Given the description of an element on the screen output the (x, y) to click on. 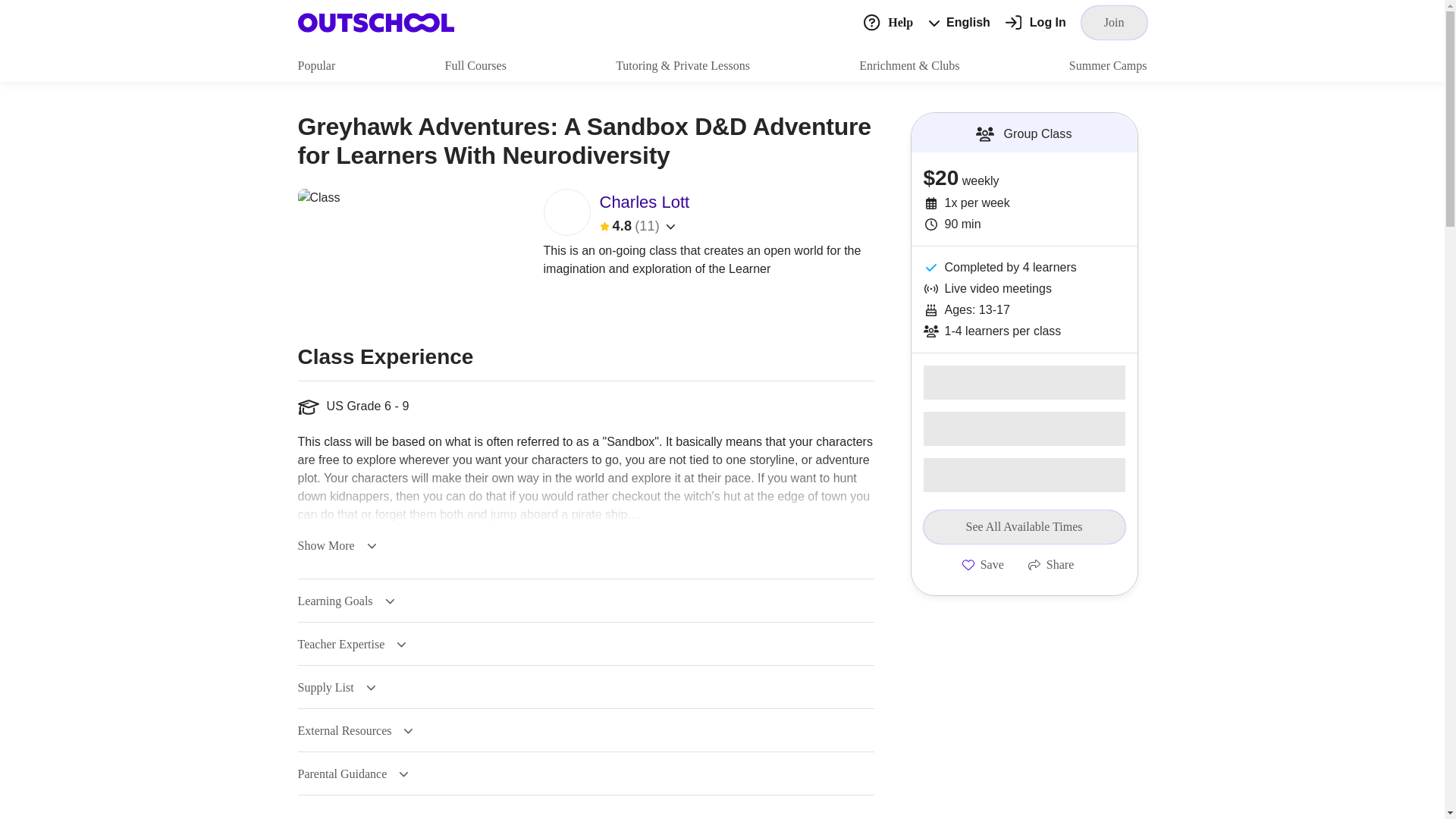
Share (1051, 565)
Join (1114, 22)
See All Available Times (1024, 526)
Teacher Expertise (351, 644)
External Resources (355, 730)
Show More (336, 545)
Learning Goals (345, 601)
Save (983, 565)
Log In (1035, 22)
Full Courses (475, 65)
Summer Camps (1107, 65)
Help (887, 21)
Parental Guidance (353, 774)
Supply List (336, 687)
Popular (315, 65)
